Given the description of an element on the screen output the (x, y) to click on. 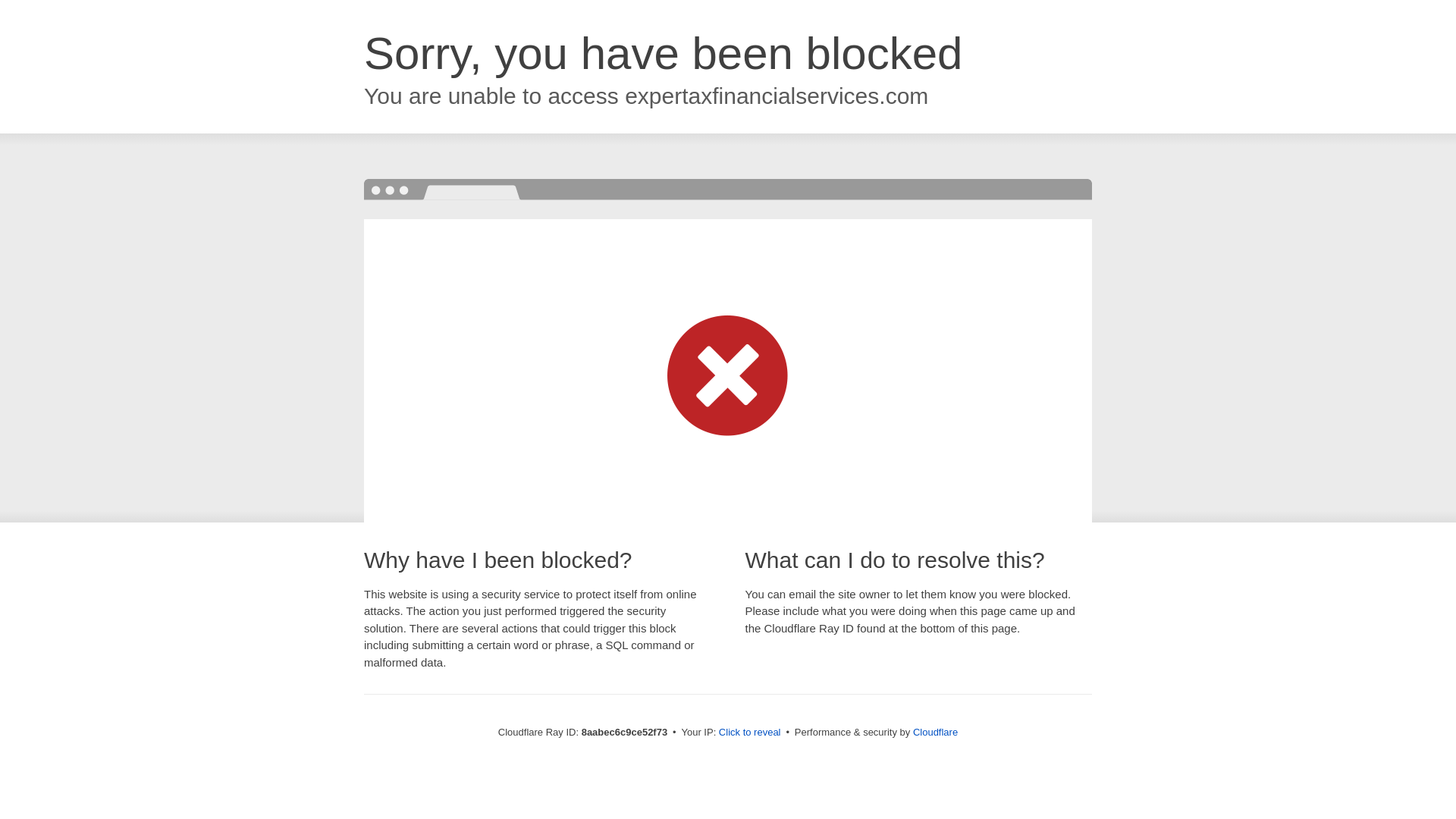
Click to reveal (749, 732)
Cloudflare (935, 731)
